Given the description of an element on the screen output the (x, y) to click on. 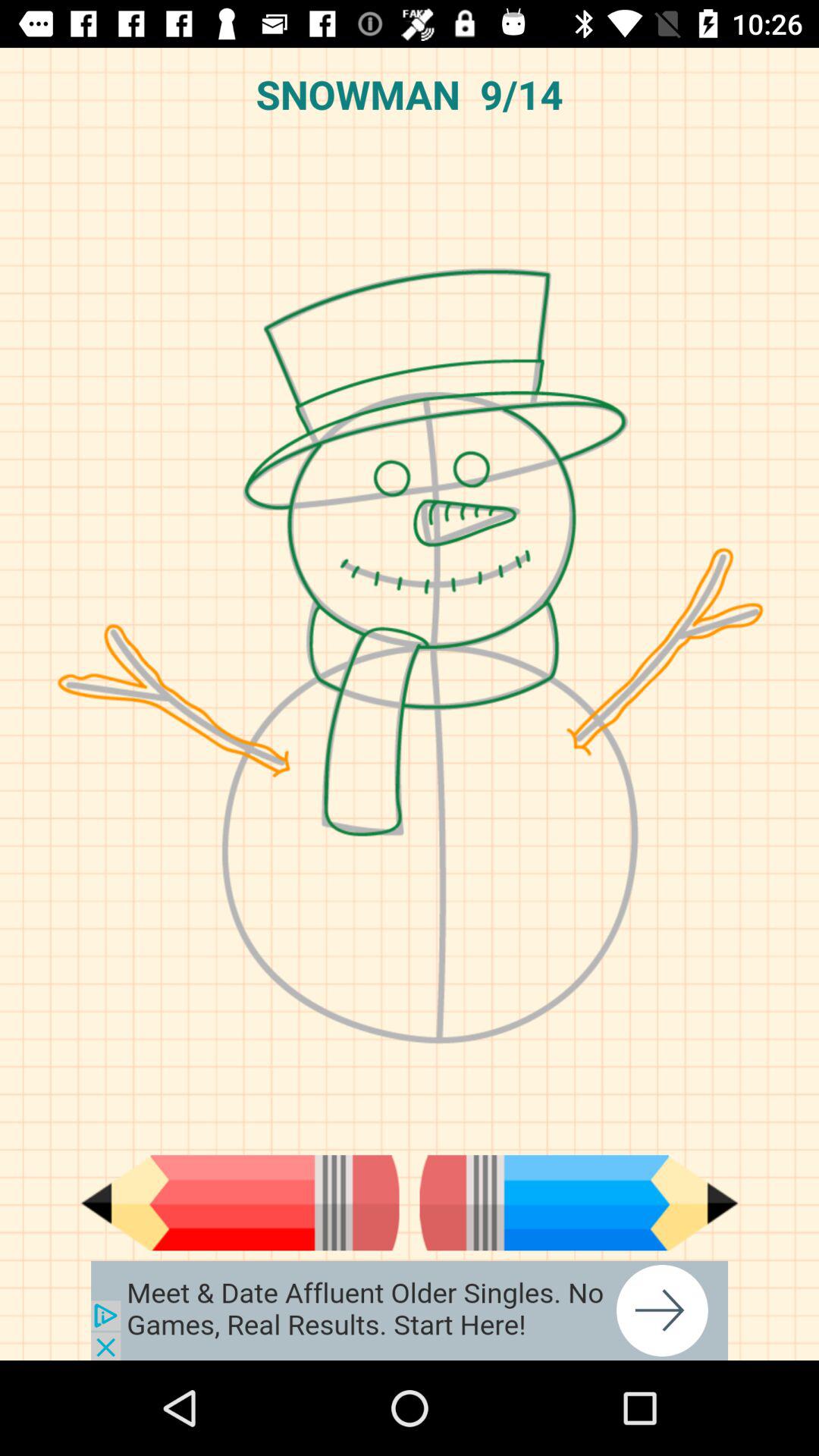
go back to previous (239, 1202)
